Given the description of an element on the screen output the (x, y) to click on. 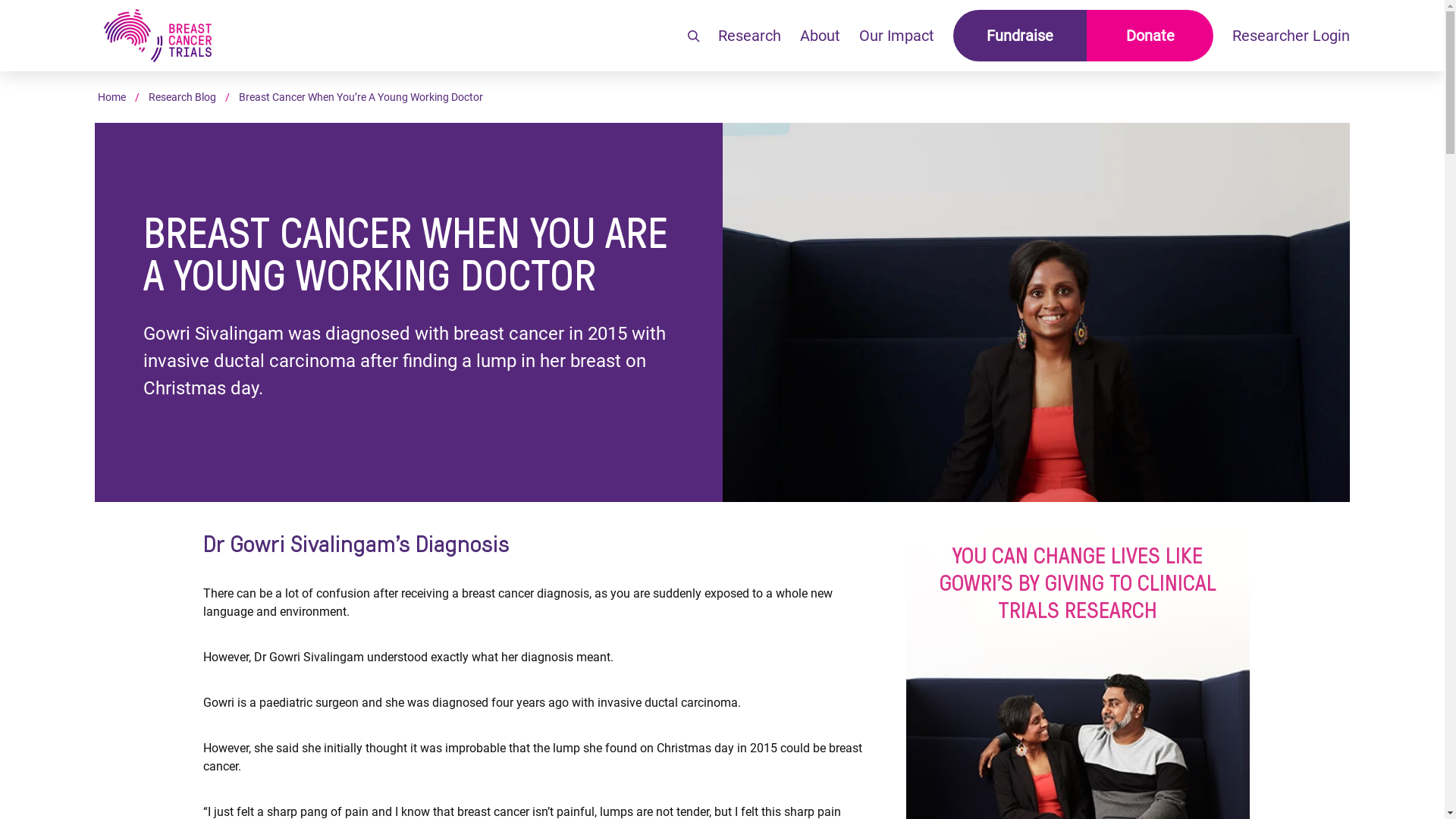
Home Element type: text (111, 97)
Fundraise Element type: text (1019, 35)
Donate Element type: text (1149, 35)
Our Impact Element type: text (896, 35)
Researcher Login Element type: text (1290, 35)
About Element type: text (820, 35)
Research Blog Element type: text (182, 97)
Breast Cancer Trials Element type: hover (157, 35)
Research Element type: text (749, 35)
